Given the description of an element on the screen output the (x, y) to click on. 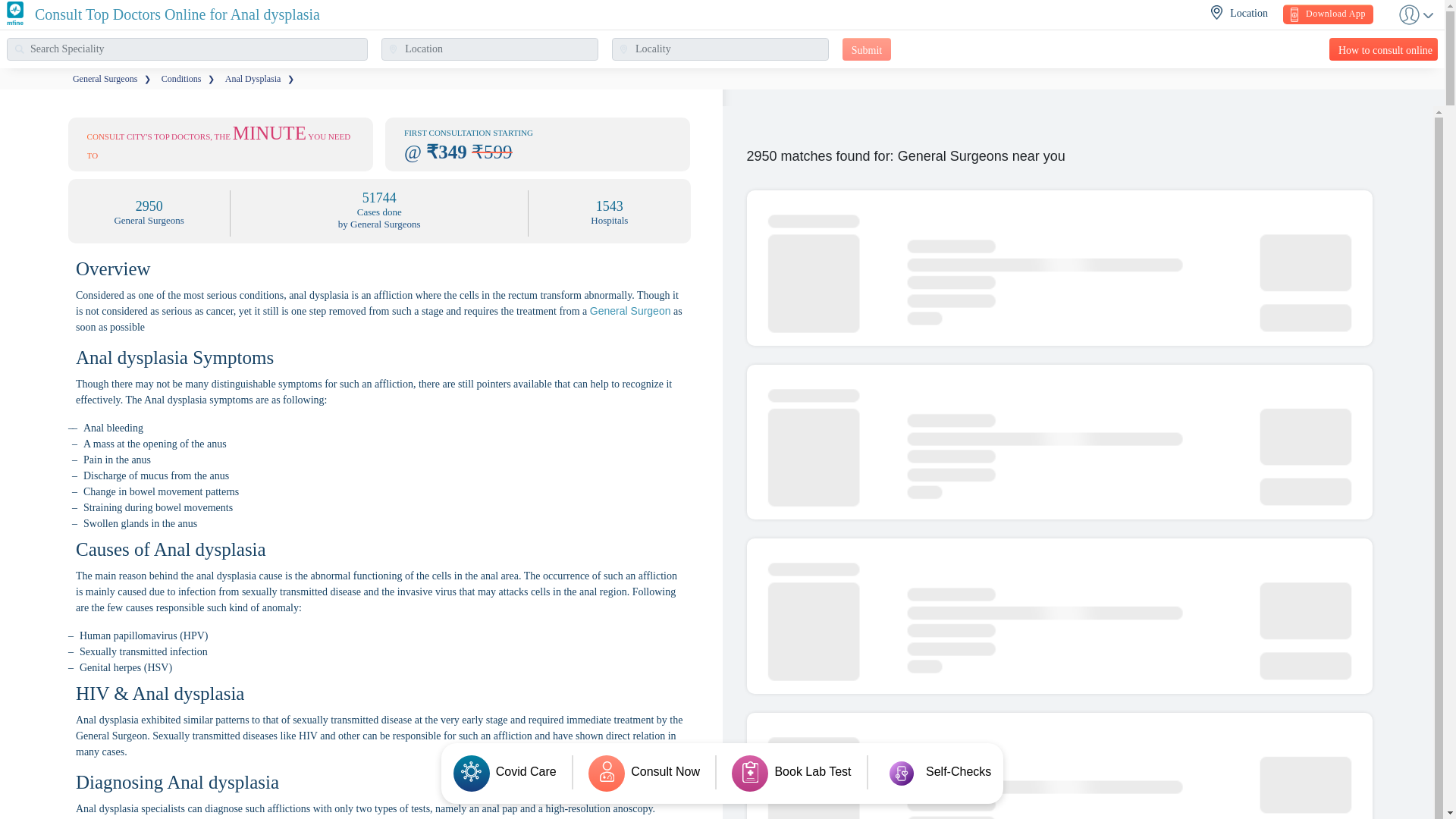
Download App (1327, 14)
Anal Dysplasia (253, 78)
General Surgeons (104, 78)
General Surgeon (630, 310)
Conditions (181, 78)
How to consult online (1383, 48)
Submit (867, 48)
